Given the description of an element on the screen output the (x, y) to click on. 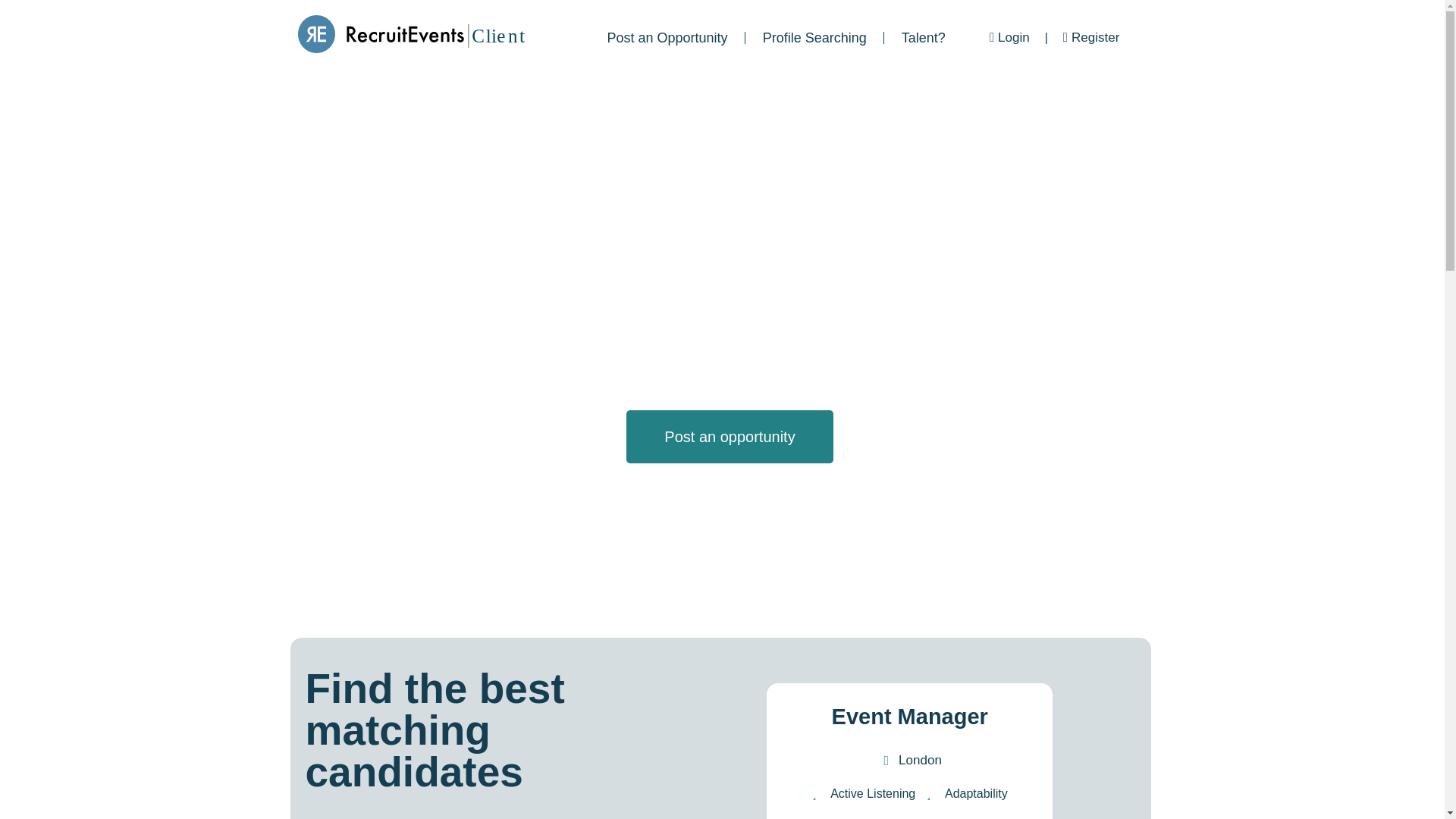
Talent? (923, 37)
Login (1009, 37)
Post an opportunity (729, 436)
Profile Searching (815, 37)
Register (1090, 37)
Post an Opportunity (667, 37)
